Given the description of an element on the screen output the (x, y) to click on. 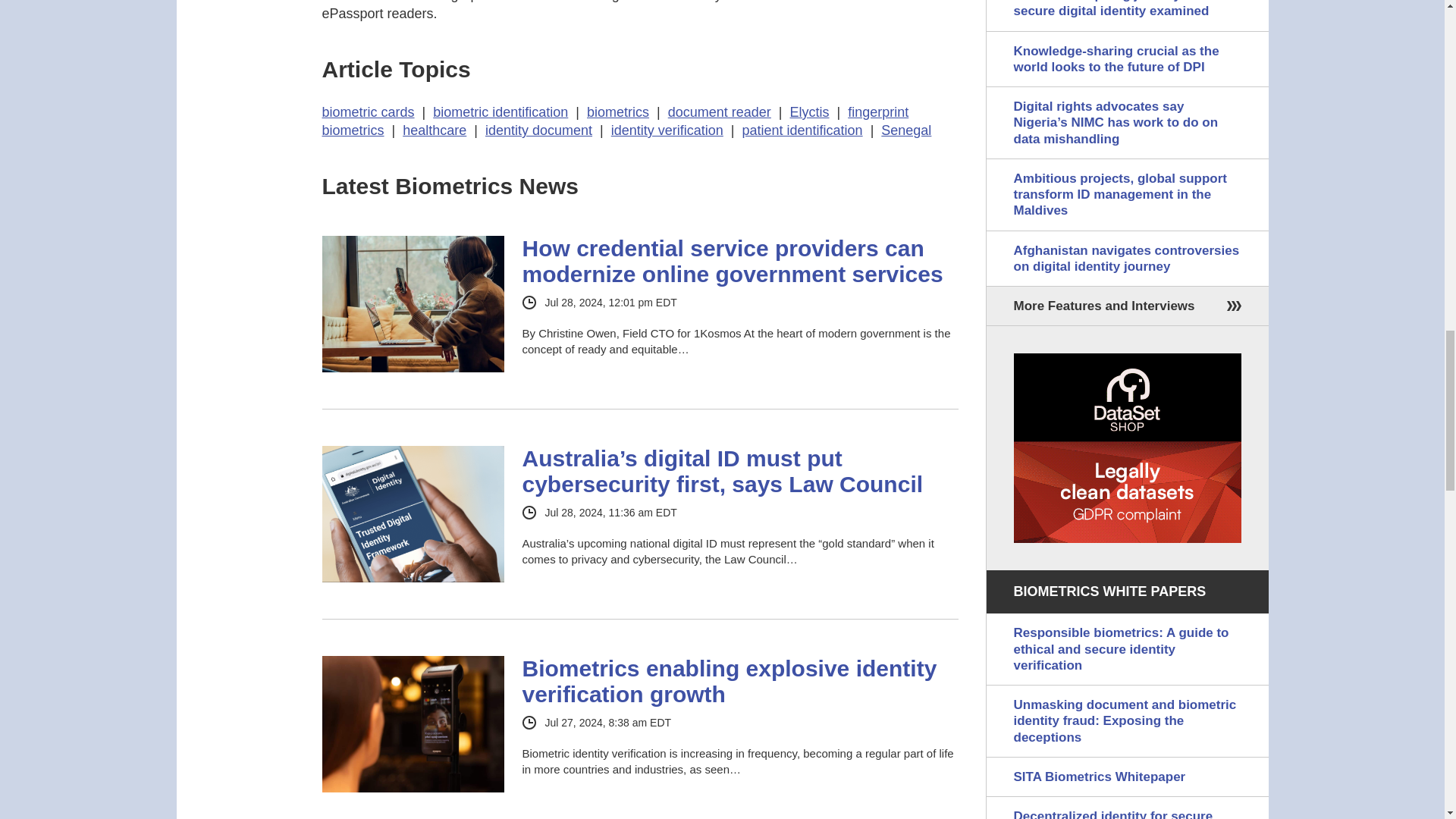
3rd party ad content (1126, 447)
